Given the description of an element on the screen output the (x, y) to click on. 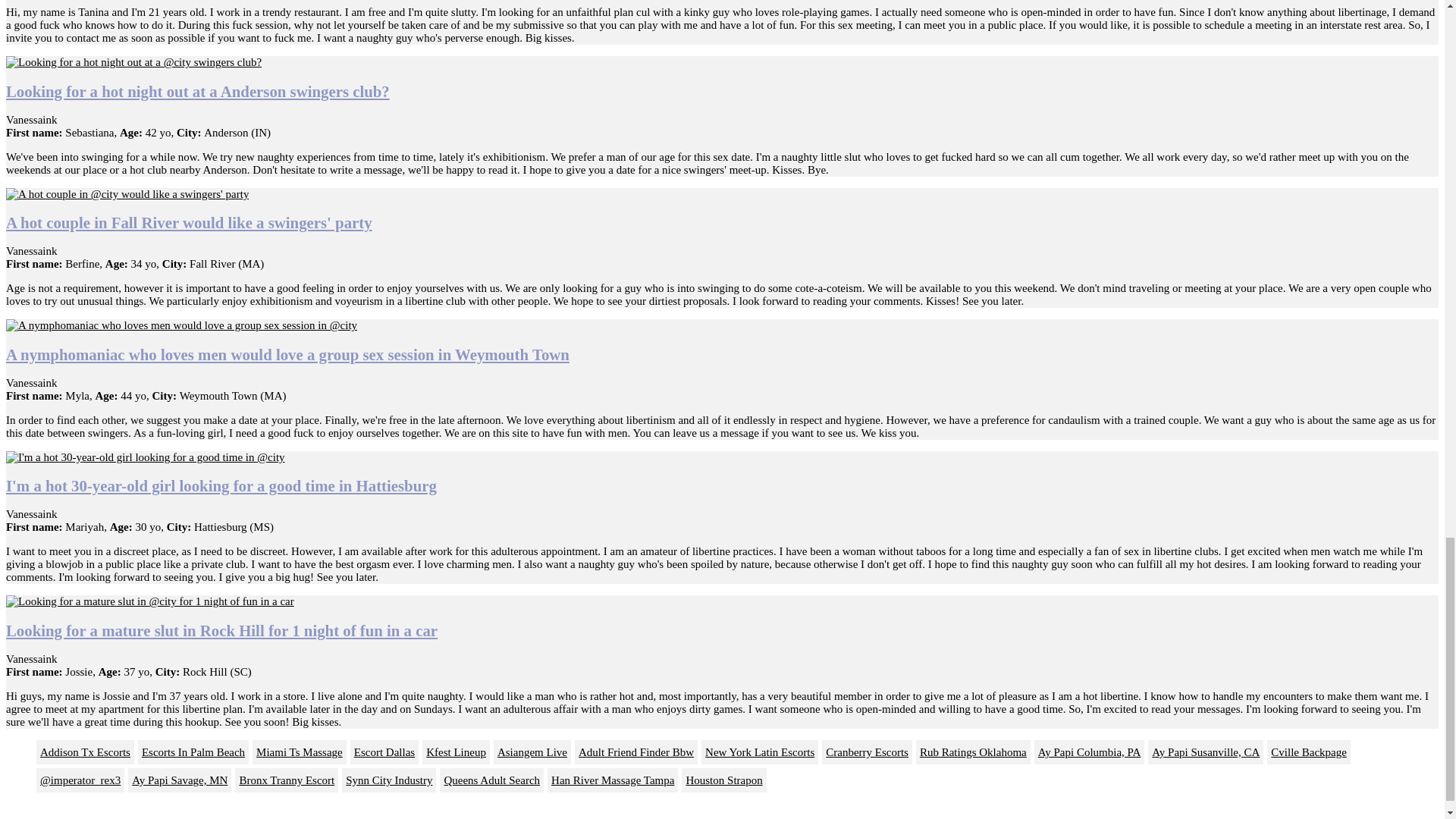
Cranberry Escorts (867, 752)
Miami Ts Massage (298, 752)
Rub Ratings Oklahoma (972, 752)
Addison Tx Escorts (84, 752)
Kfest Lineup (455, 752)
A hot couple in Fall River would like a swingers' party (188, 221)
Escorts In Palm Beach (193, 752)
Ay Papi Columbia, PA (1088, 752)
Looking for a hot night out at a Anderson swingers club? (197, 90)
Ay Papi Savage, MN (179, 780)
Escort Dallas (384, 752)
Asiangem Live (531, 752)
